Given the description of an element on the screen output the (x, y) to click on. 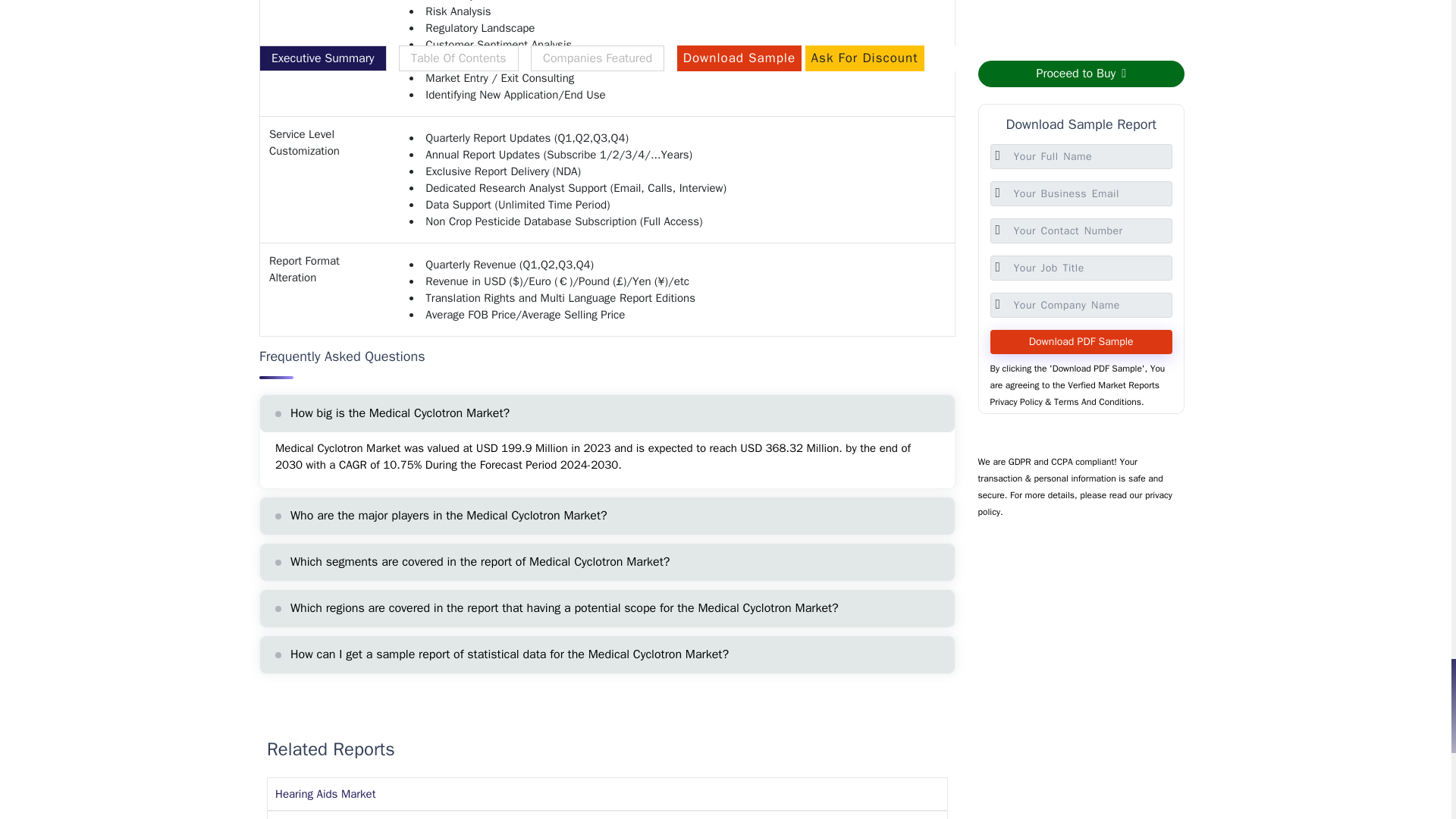
Hearing Aids Market (325, 793)
